Given the description of an element on the screen output the (x, y) to click on. 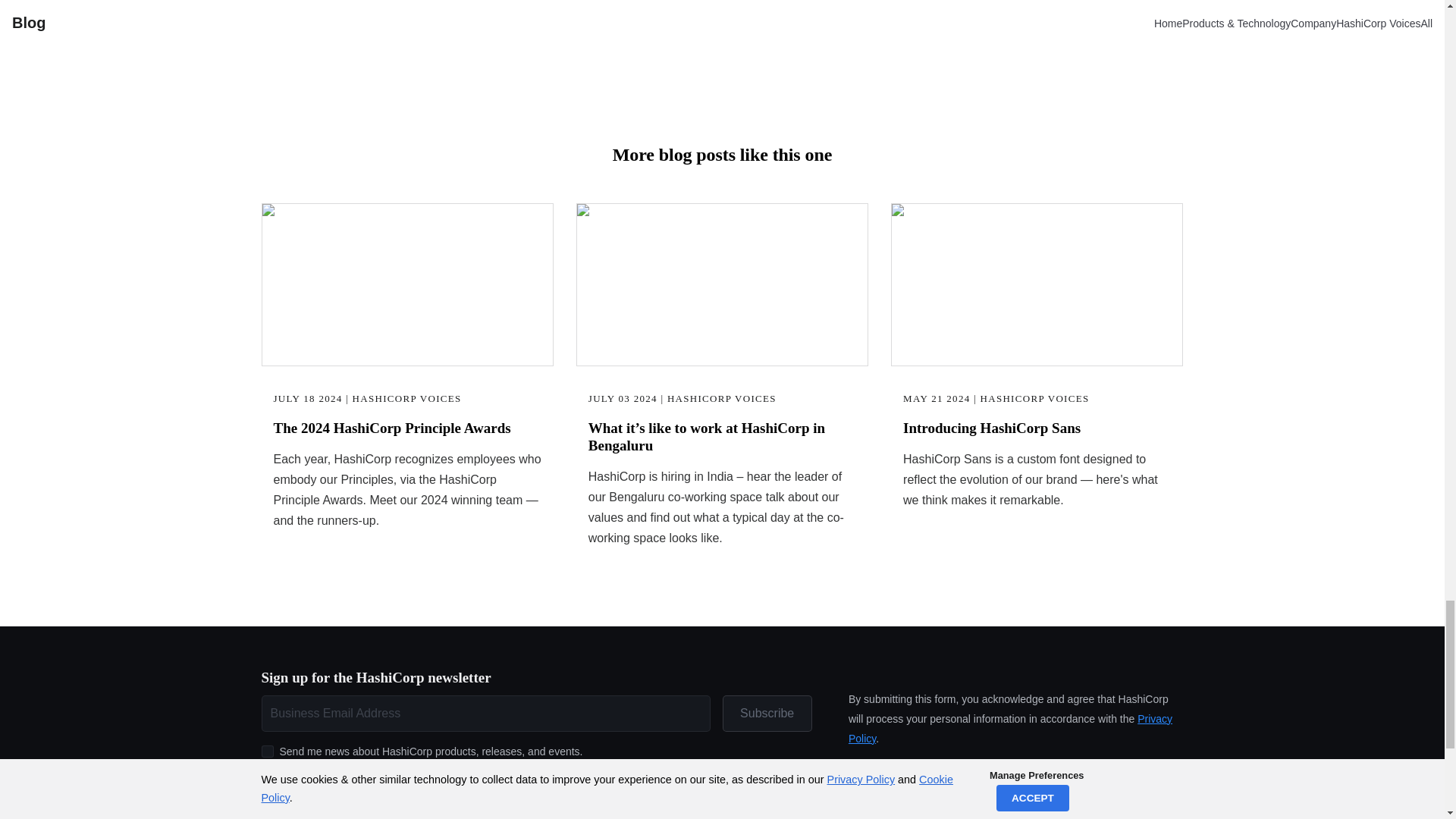
on (266, 751)
